Given the description of an element on the screen output the (x, y) to click on. 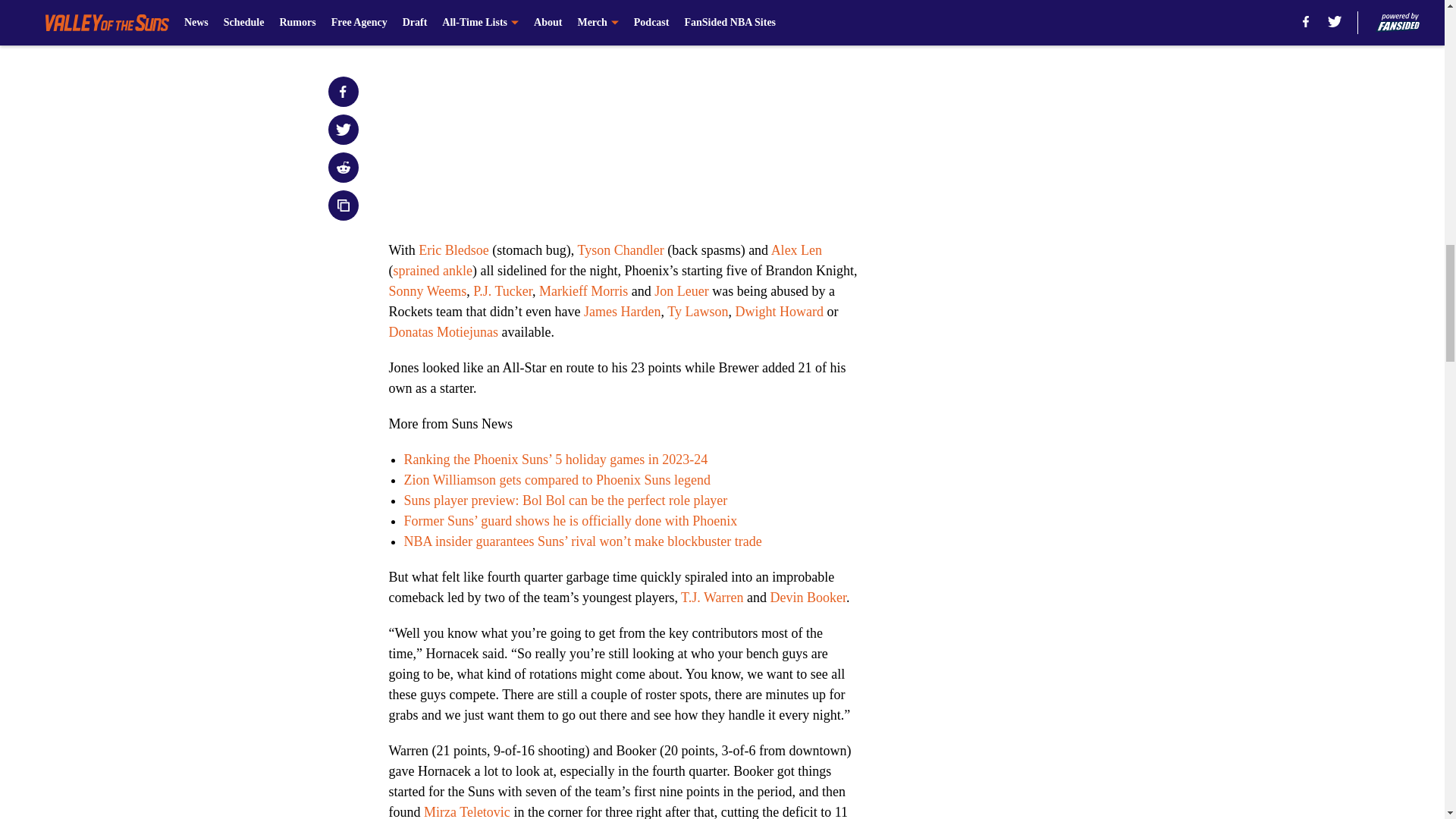
Markieff Morris (582, 290)
P.J. Tucker (502, 290)
Sonny Weems (426, 290)
Tyson Chandler (619, 249)
sprained ankle (432, 270)
Eric Bledsoe (453, 249)
James Harden (622, 311)
Alex Len (796, 249)
Jon Leuer (680, 290)
